Given the description of an element on the screen output the (x, y) to click on. 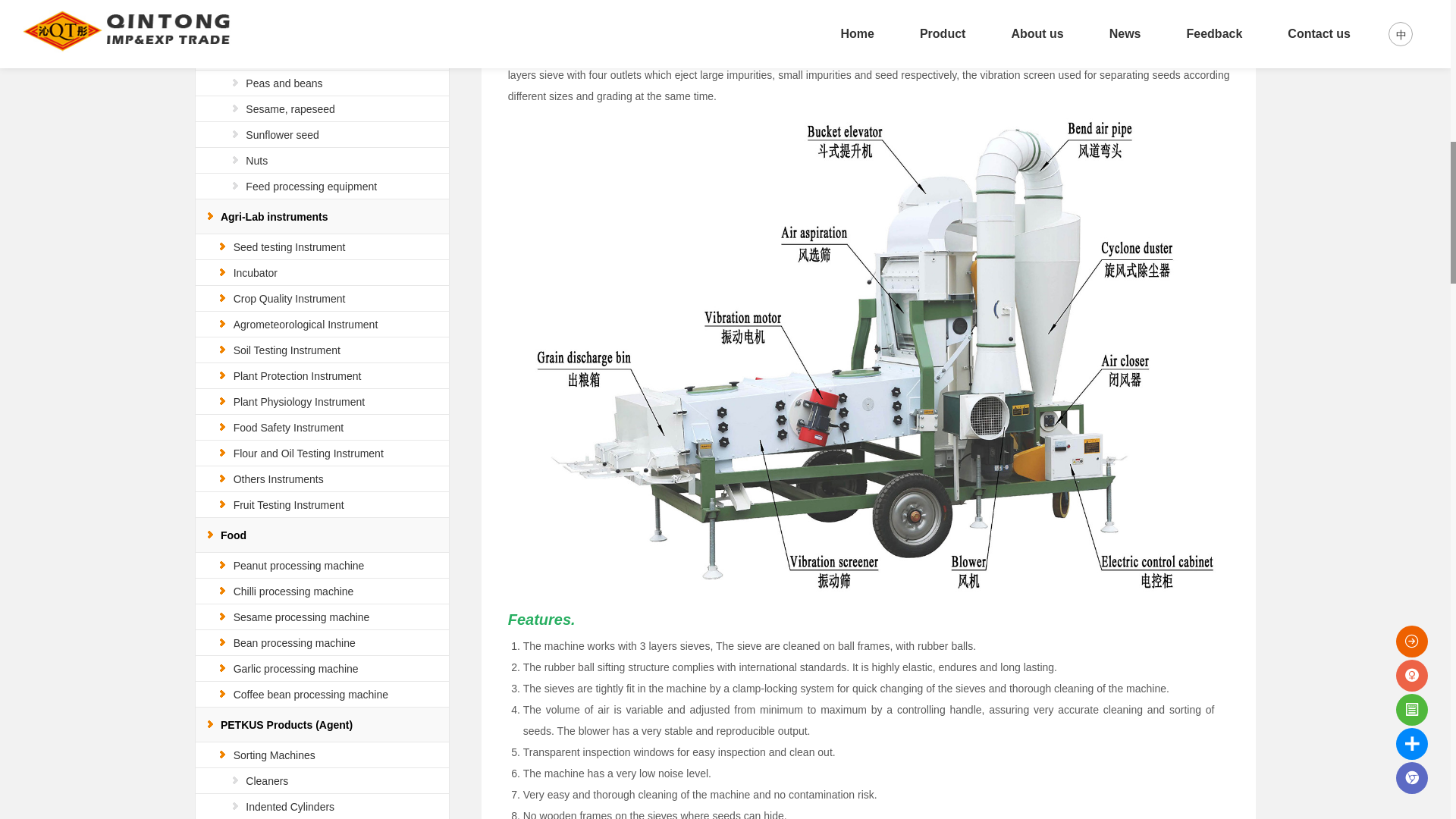
Sesame, rapeseed (290, 109)
Wheat, Paddy seed (291, 31)
ENTER (1372, 17)
Corp (244, 6)
Feed processing equipment (311, 186)
Peas and beans (283, 82)
Maize (259, 57)
Agri-Lab instruments (275, 216)
Nuts (256, 160)
Sunflower seed (282, 134)
